Given the description of an element on the screen output the (x, y) to click on. 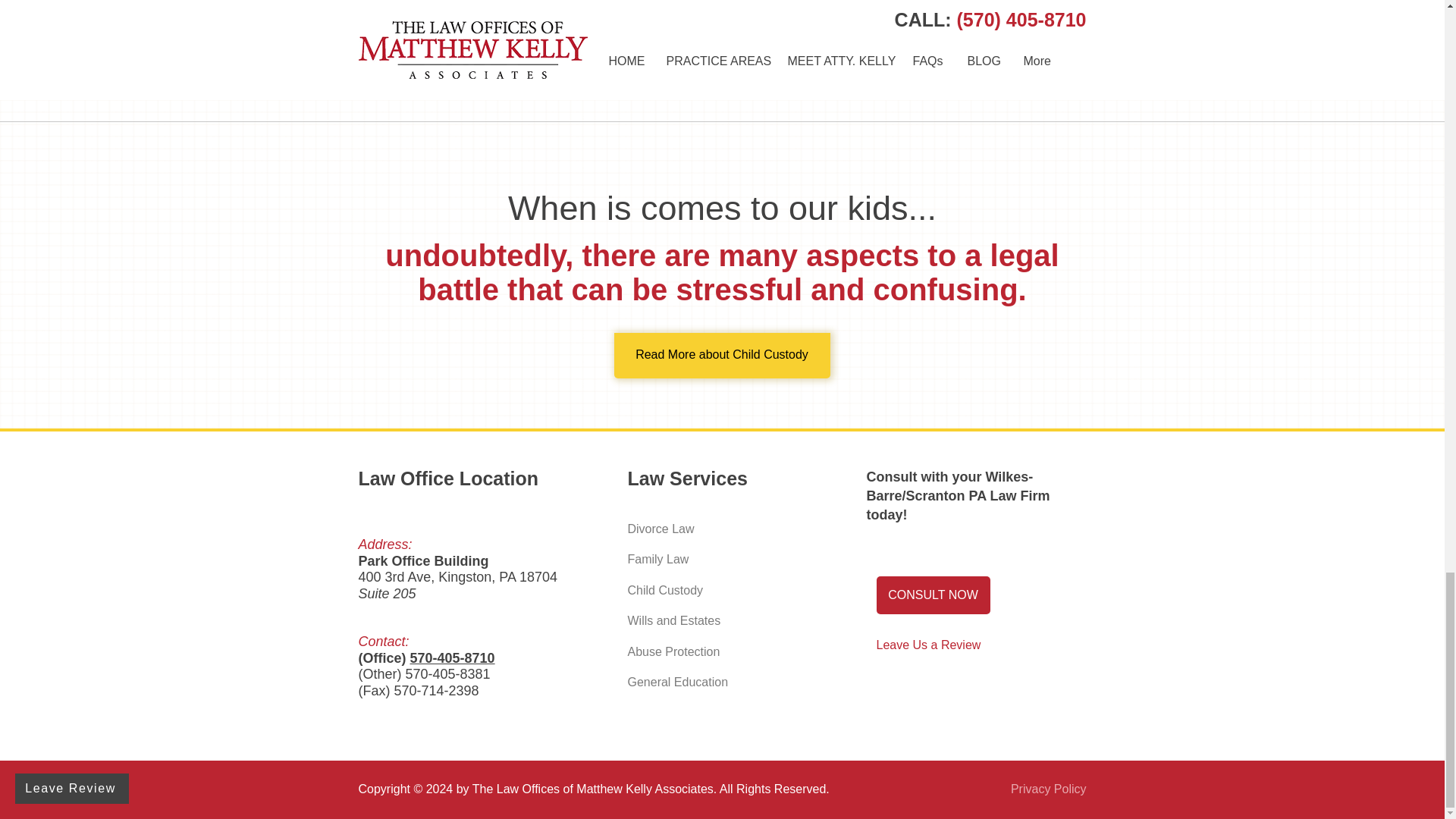
Privacy Policy (1048, 788)
Abuse Protection (707, 651)
570-405-8710 (452, 657)
CONSULT NOW (933, 595)
Child Custody (707, 590)
Family Law (707, 558)
Wills and Estates (707, 620)
Leave Us a Review (933, 644)
Divorce Law (707, 528)
General Education (707, 681)
Read More about Child Custody (721, 355)
